Given the description of an element on the screen output the (x, y) to click on. 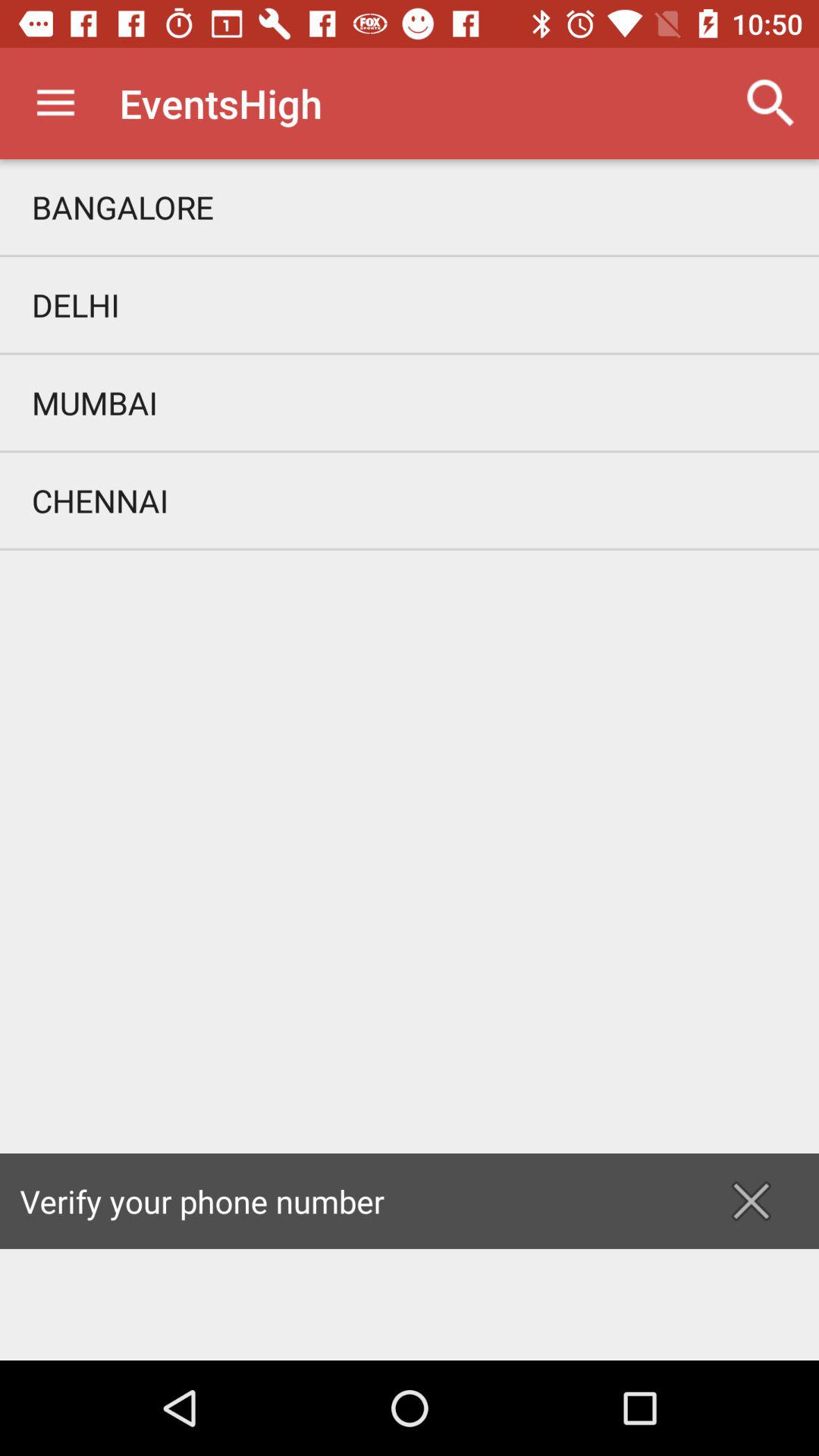
swipe until delhi (409, 304)
